Given the description of an element on the screen output the (x, y) to click on. 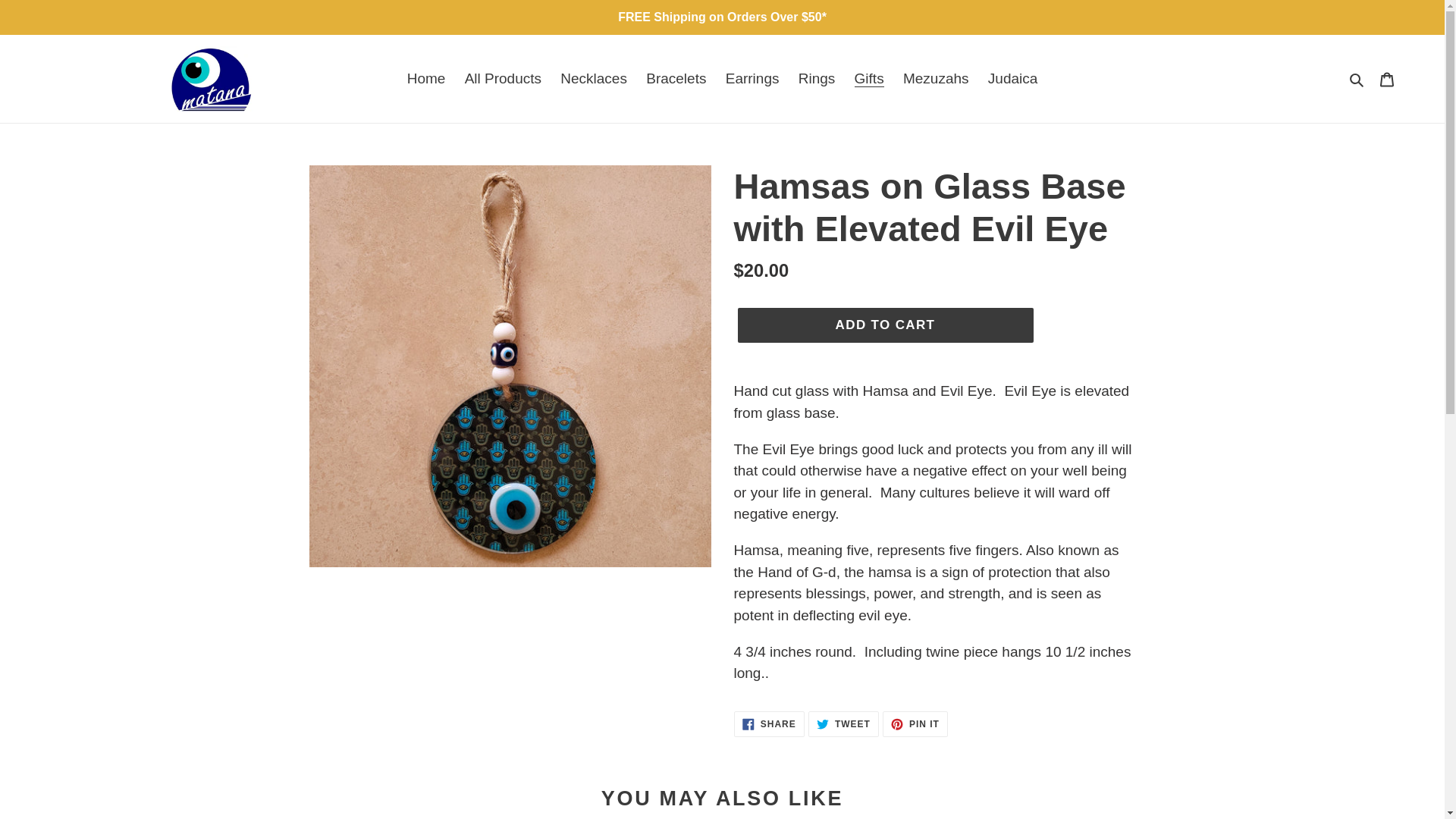
All Products (502, 79)
Earrings (914, 724)
Gifts (752, 79)
Home (869, 79)
ADD TO CART (425, 79)
Search (884, 325)
Mezuzahs (1357, 78)
Bracelets (935, 79)
Judaica (676, 79)
Rings (1012, 79)
Necklaces (769, 724)
